Given the description of an element on the screen output the (x, y) to click on. 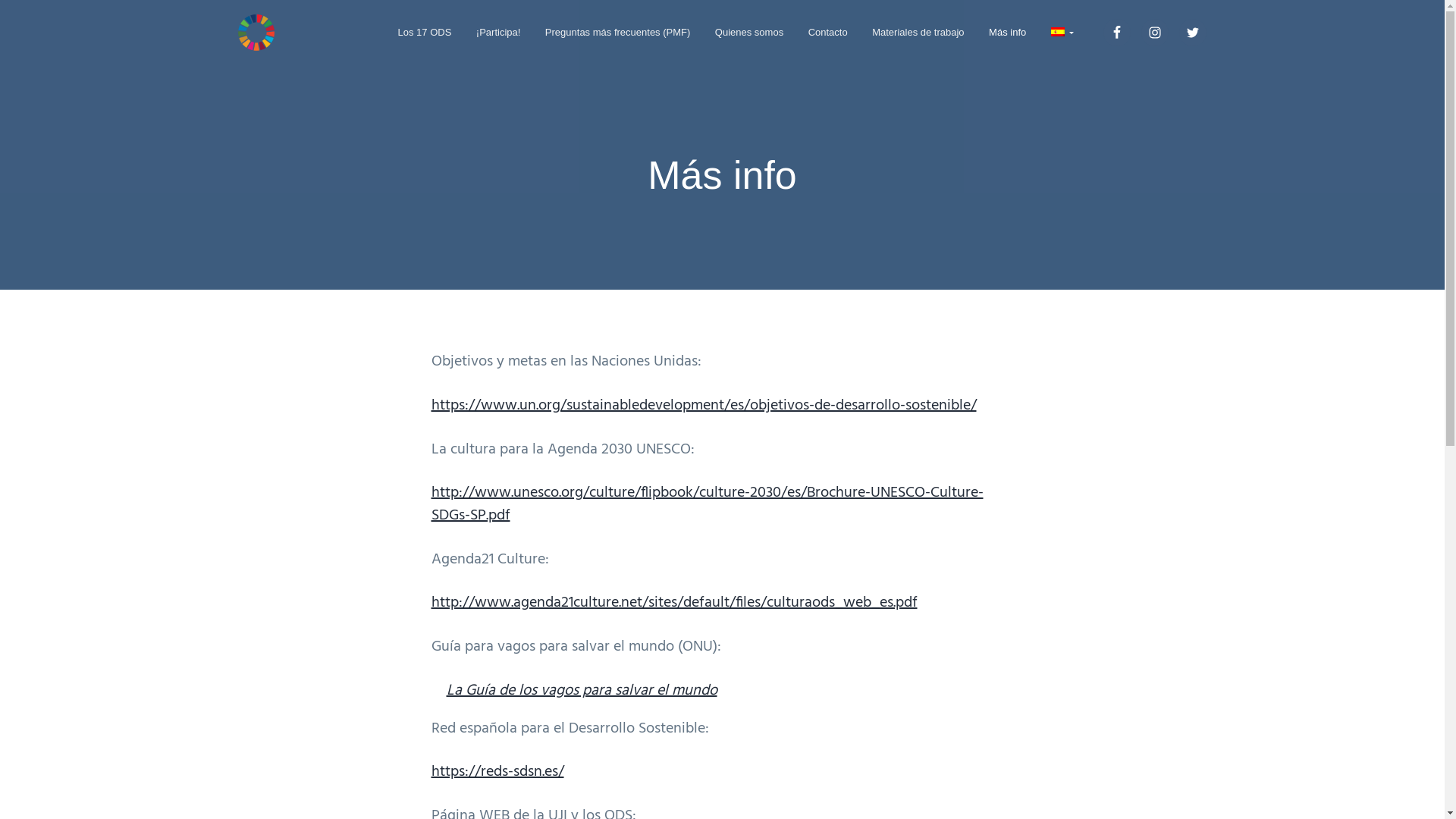
Materiales de trabajo Element type: text (917, 31)
Skip to primary navigation Element type: text (0, 0)
Quienes somos Element type: text (749, 31)
Contacto Element type: text (827, 31)
https://reds-sdsn.es/ Element type: text (496, 771)
Los 17 ODS Element type: text (424, 31)
17 objetivos y un mapa Element type: text (307, 57)
